Given the description of an element on the screen output the (x, y) to click on. 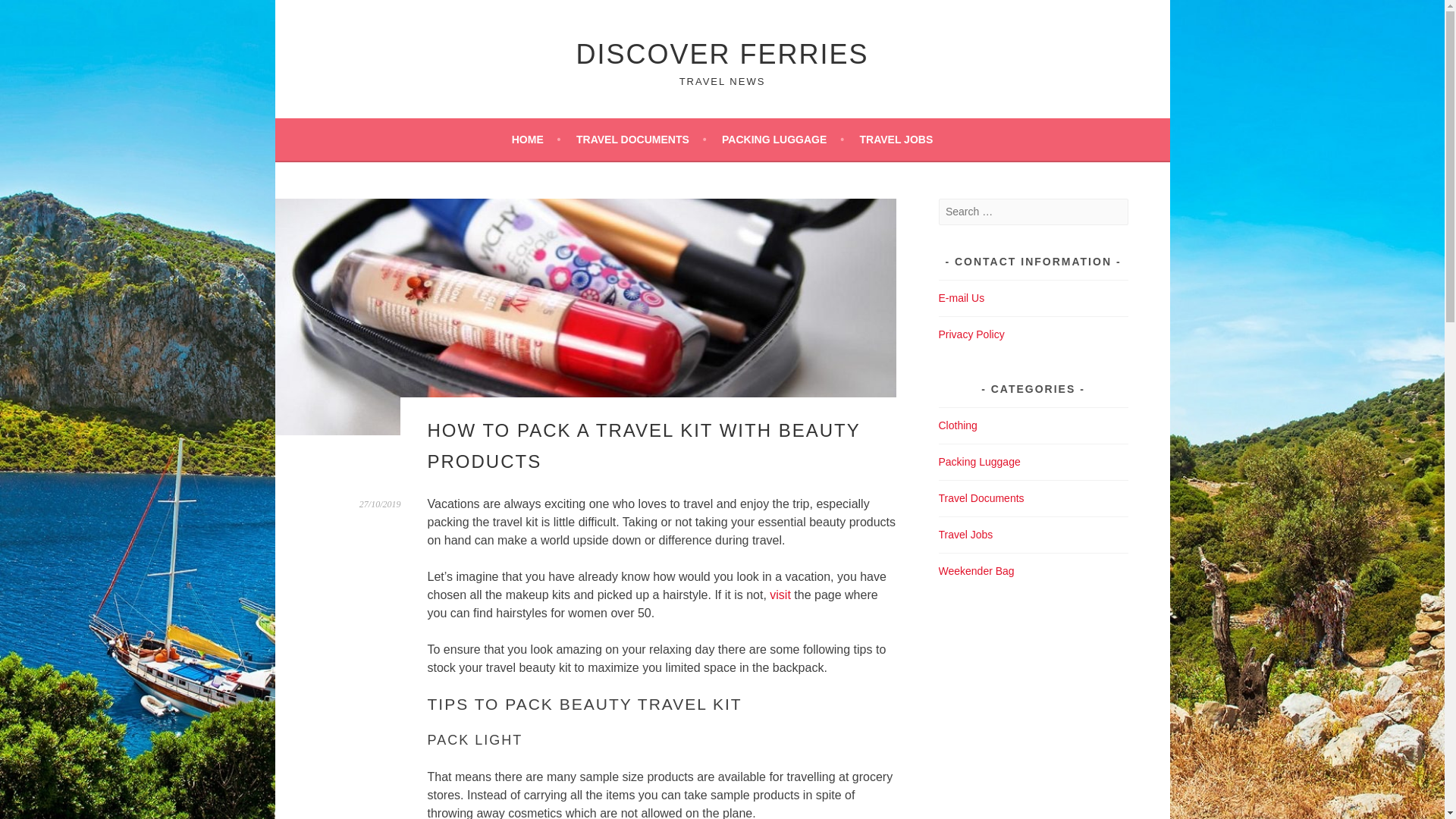
Clothing (957, 425)
hairstyles for women over 50 (780, 594)
TRAVEL JOBS (896, 139)
PACKING LUGGAGE (783, 139)
visit (780, 594)
TRAVEL DOCUMENTS (641, 139)
Privacy Policy (971, 334)
Travel Jobs (965, 534)
Travel Documents (982, 498)
Permalink to How to pack a travel kit with beauty products (380, 503)
